Given the description of an element on the screen output the (x, y) to click on. 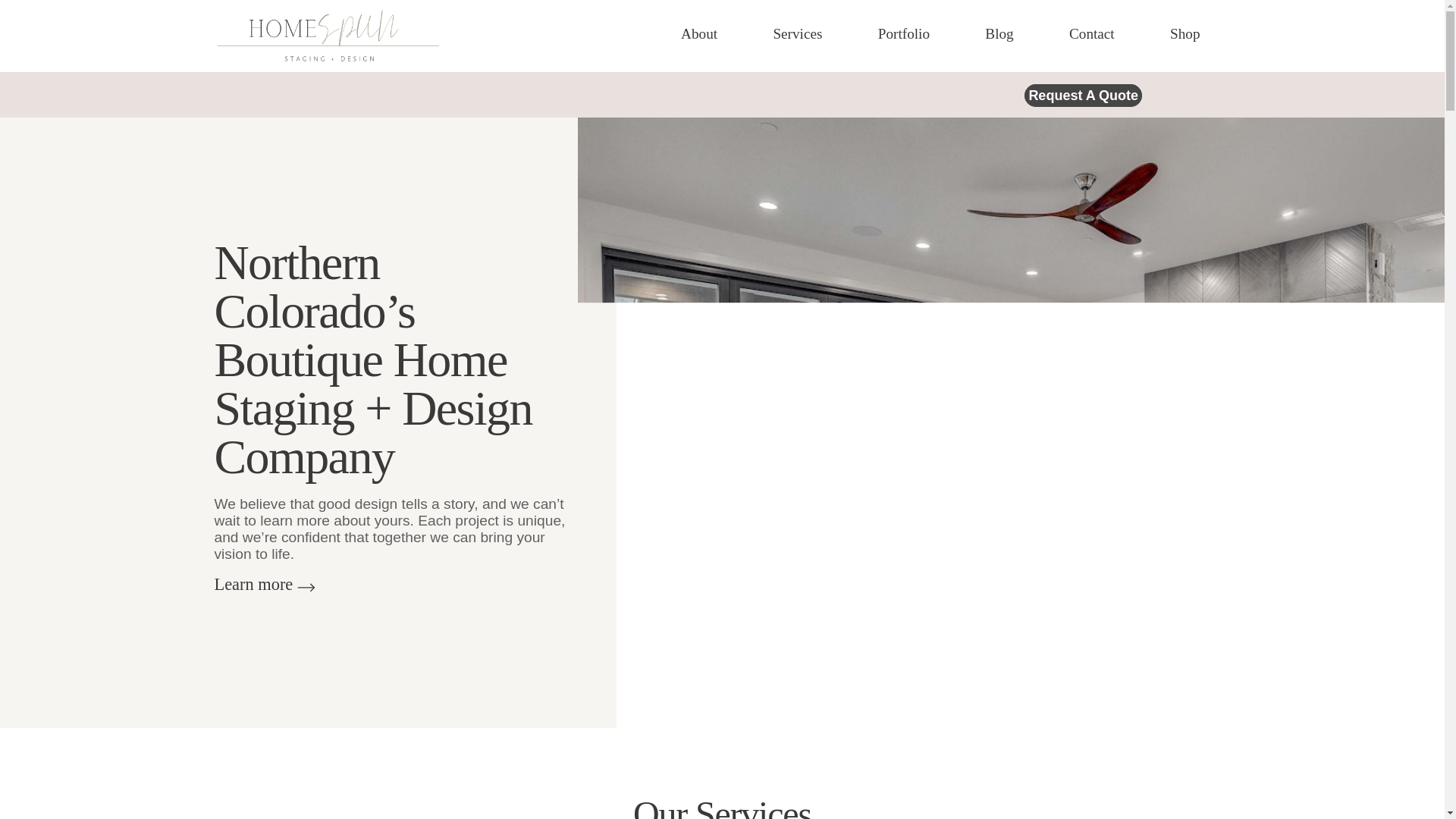
Learn more (253, 583)
Shop (1184, 34)
Contact (1091, 34)
Blog (999, 34)
Request A Quote (1083, 95)
About (699, 34)
Services (797, 34)
Portfolio (903, 34)
